Given the description of an element on the screen output the (x, y) to click on. 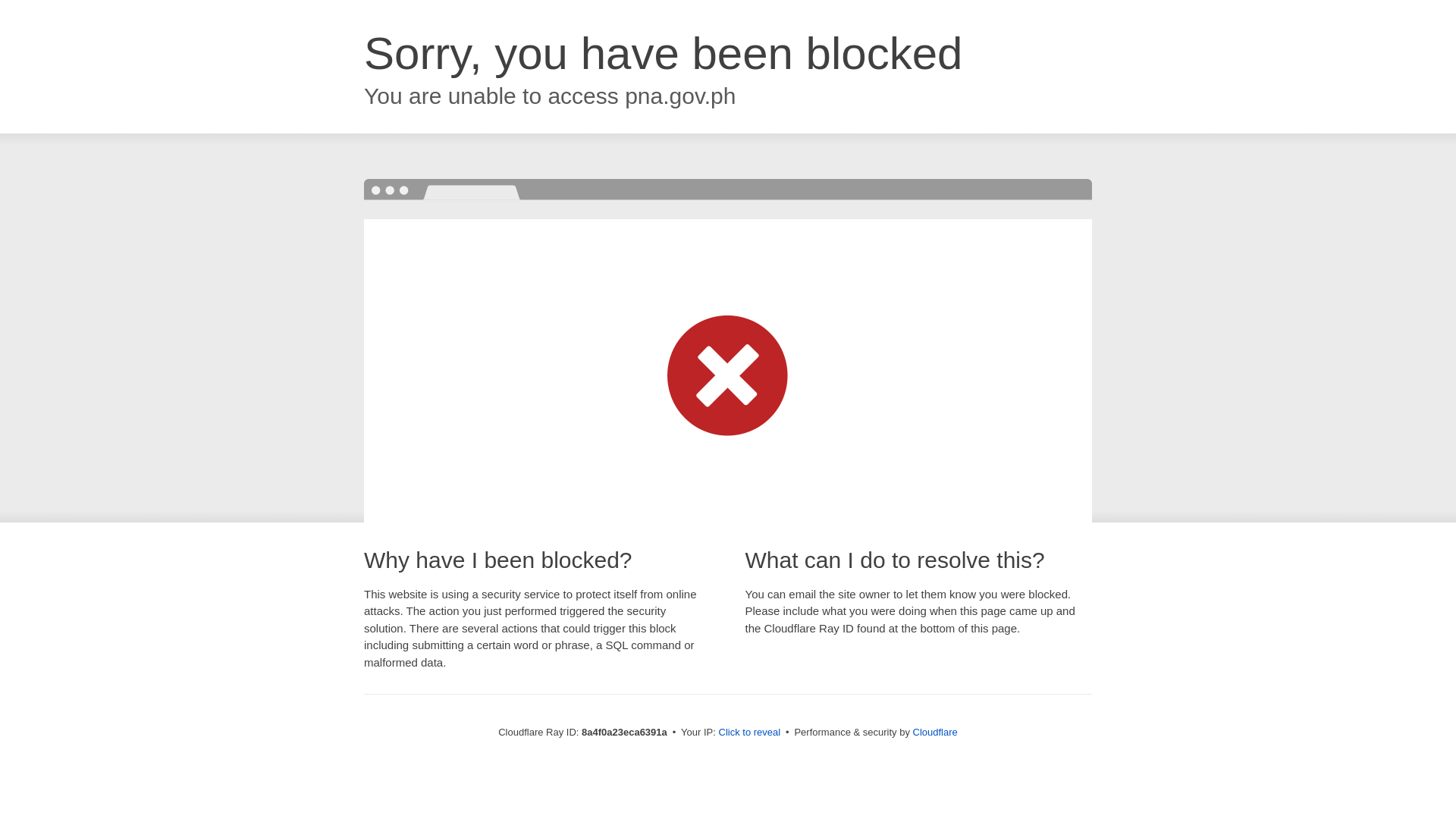
Click to reveal (749, 732)
Cloudflare (935, 731)
